Given the description of an element on the screen output the (x, y) to click on. 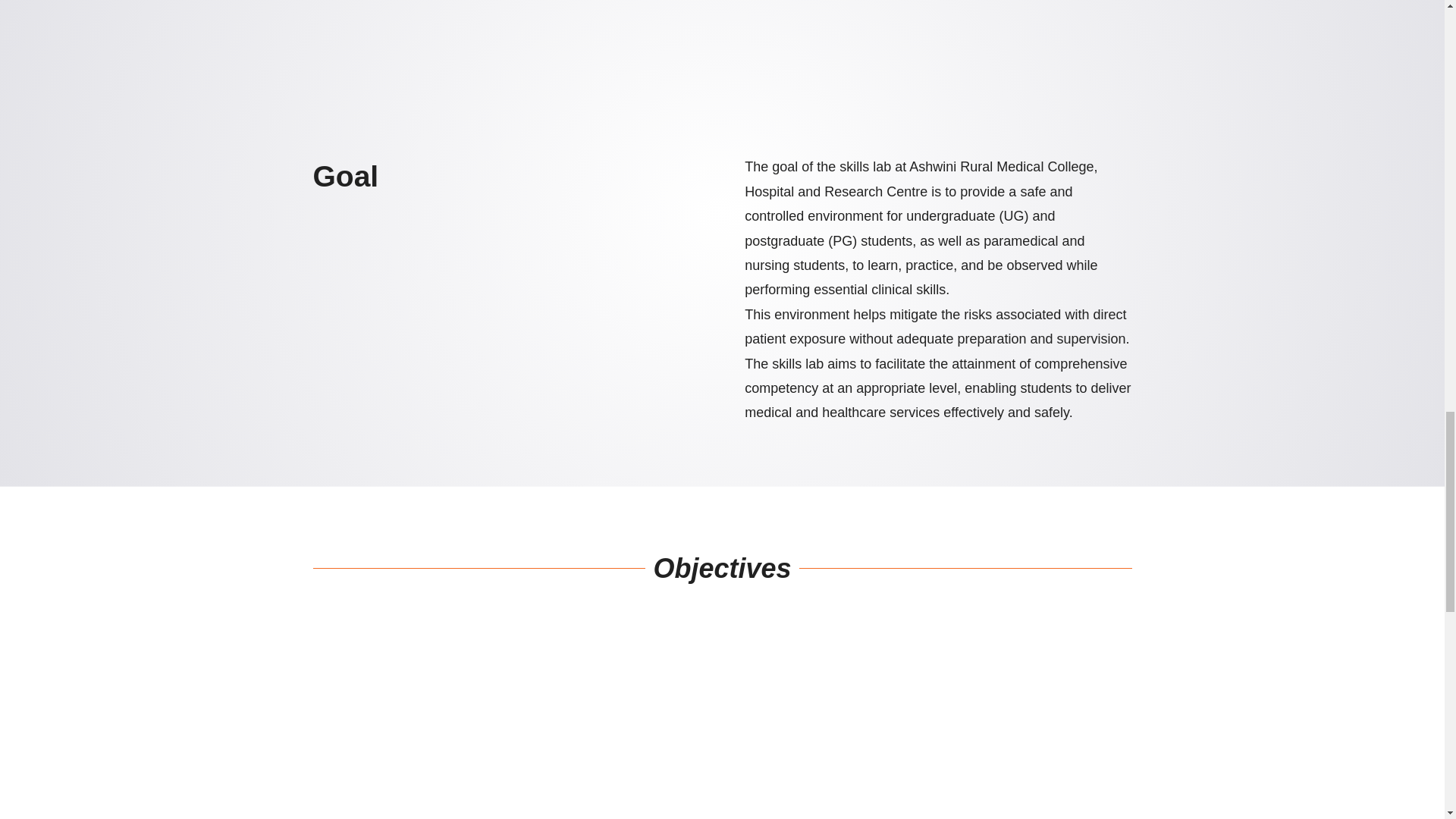
Alumni5 (613, 56)
Alumni6 (1045, 56)
Alumni8 (829, 56)
Alumni1 (398, 56)
